Given the description of an element on the screen output the (x, y) to click on. 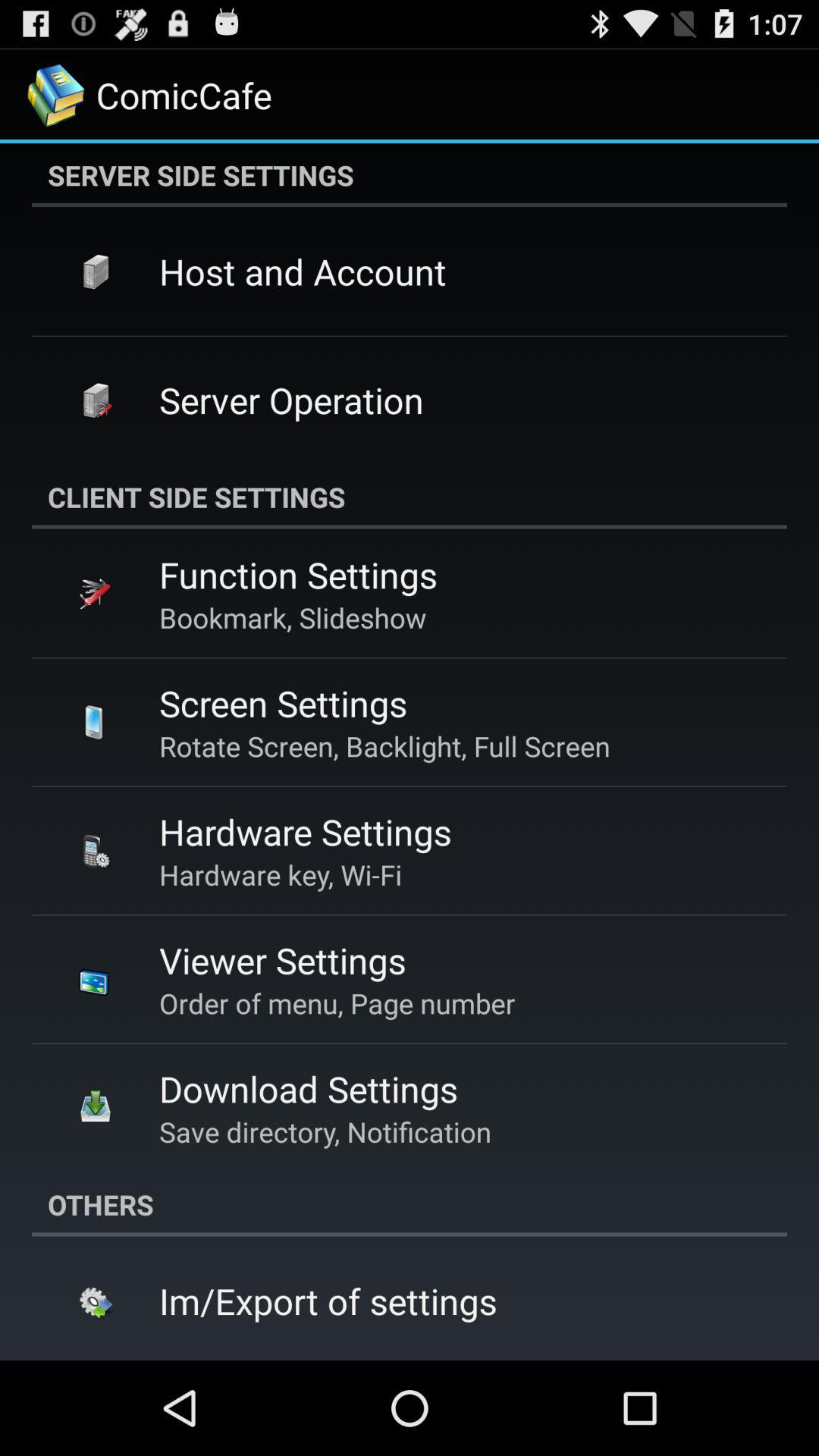
select item above server operation icon (302, 271)
